Given the description of an element on the screen output the (x, y) to click on. 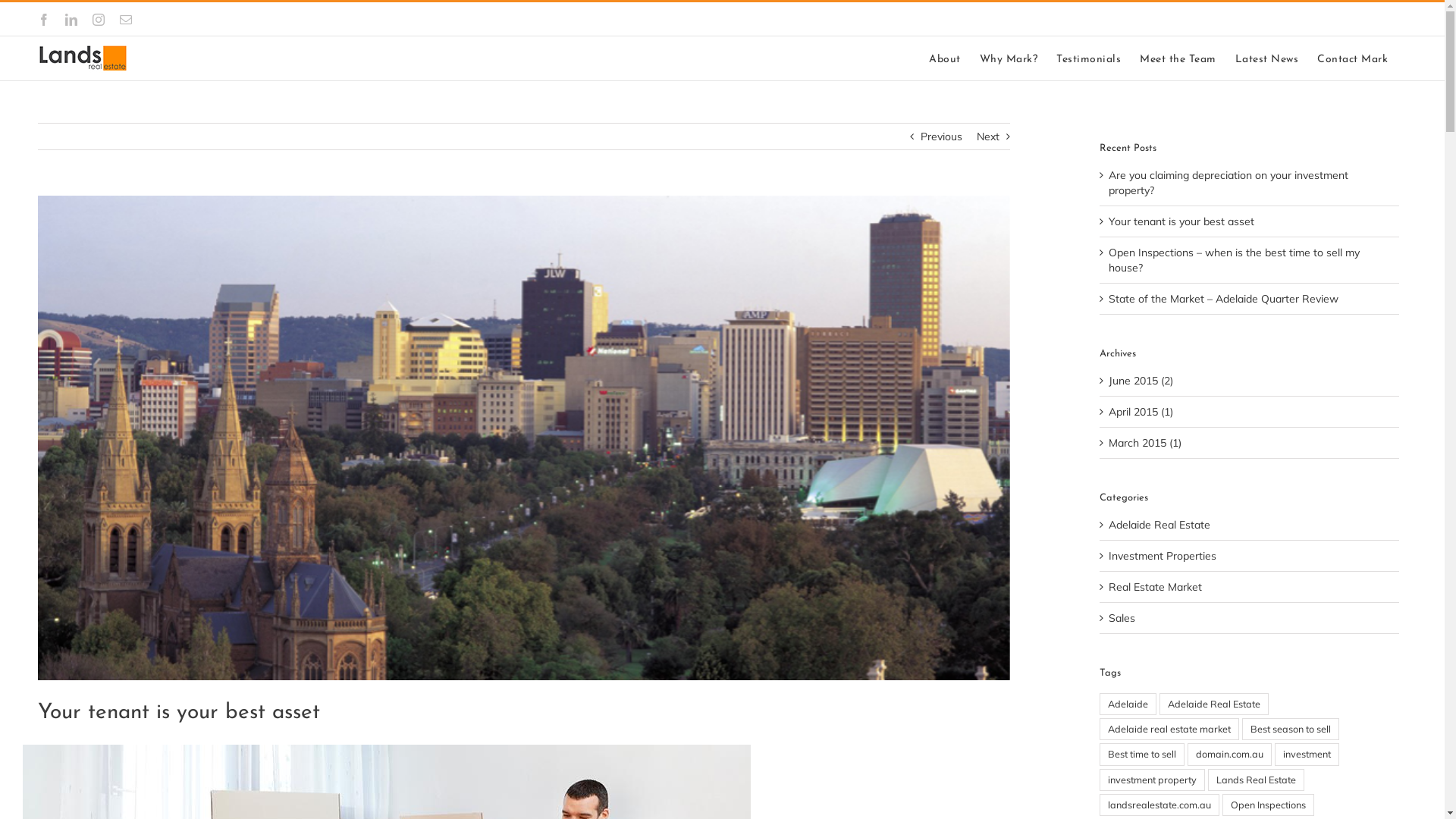
Lands Real Estate Element type: text (1256, 779)
Best season to sell Element type: text (1290, 729)
Investment Properties Element type: text (1249, 555)
Sales Element type: text (1249, 617)
Are you claiming depreciation on your investment property? Element type: text (1228, 182)
Email Element type: text (125, 19)
mark@landsrealestate.com.au Element type: text (1332, 18)
Latest News Element type: text (1266, 58)
March 2015 (1) Element type: text (1144, 442)
Contact Mark Element type: text (1352, 58)
Facebook Element type: text (43, 19)
June 2015 (2) Element type: text (1140, 380)
investment Element type: text (1306, 754)
Adelaide real estate market Element type: text (1169, 729)
Open Inspections Element type: text (1268, 804)
View Larger Image Element type: text (523, 437)
0402 209 563 Element type: text (966, 18)
Your tenant is your best asset Element type: text (1181, 221)
Next Element type: text (987, 136)
Instagram Element type: text (98, 19)
Adelaide Real Estate Element type: text (1213, 704)
LinkedIn Element type: text (71, 19)
domain.com.au Element type: text (1229, 754)
Real Estate Market Element type: text (1249, 586)
View Mark's Sold Properties Element type: text (1178, 18)
landsrealestate.com.au Element type: text (1159, 804)
About Element type: text (944, 58)
Why Mark? Element type: text (1008, 58)
Testimonials Element type: text (1088, 58)
Adelaide Real Estate Element type: text (1249, 524)
investment property Element type: text (1151, 779)
Adelaide Element type: text (1127, 704)
April 2015 (1) Element type: text (1140, 411)
Previous Element type: text (941, 136)
Best time to sell Element type: text (1141, 754)
Meet the Team Element type: text (1177, 58)
